Given the description of an element on the screen output the (x, y) to click on. 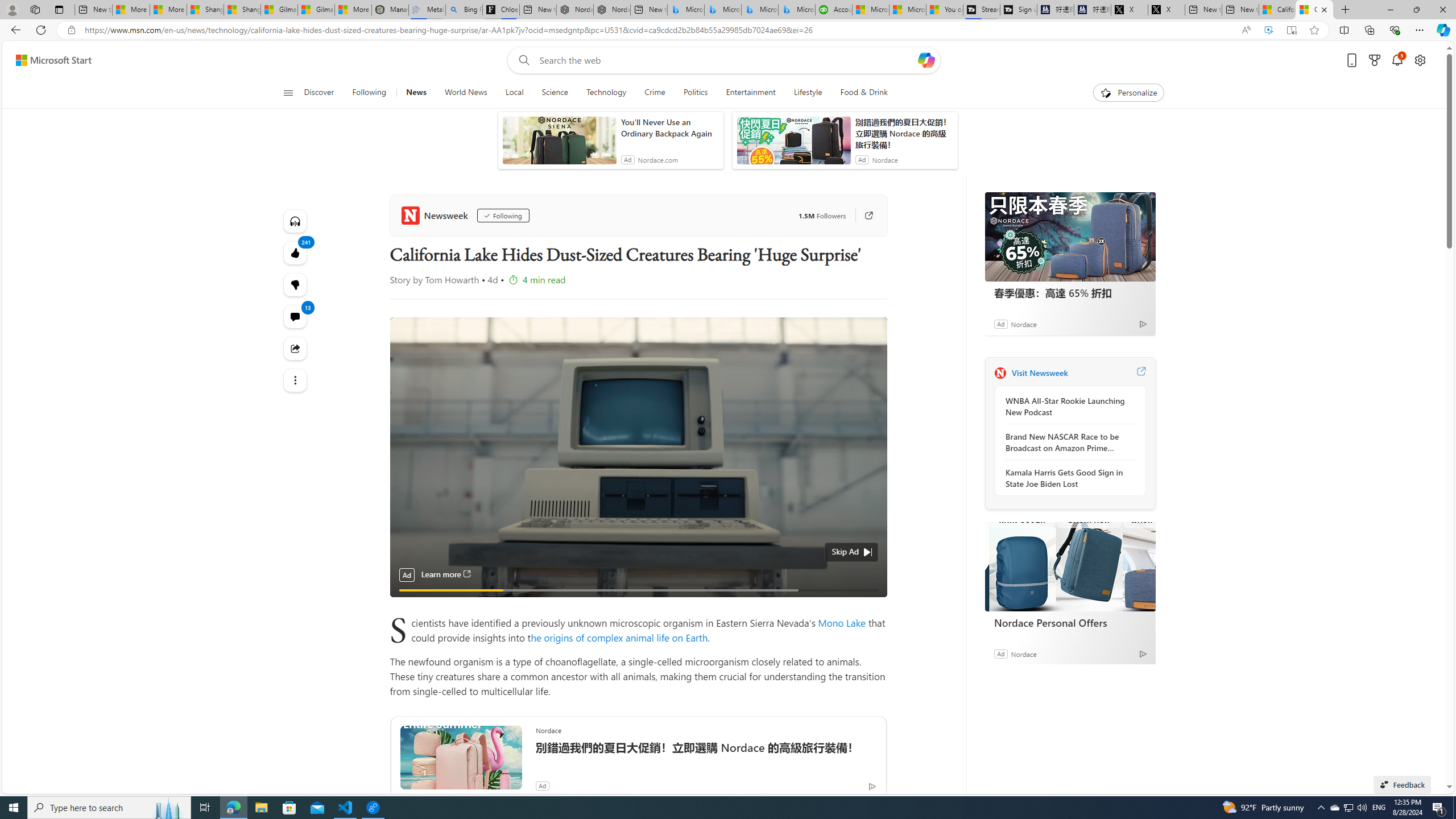
Crime (655, 92)
Politics (694, 92)
Listen to this article (295, 221)
Science (554, 92)
Nordace.com (657, 159)
Skip Ad (845, 551)
Crime (654, 92)
World News (465, 92)
Food & Drink (864, 92)
